Given the description of an element on the screen output the (x, y) to click on. 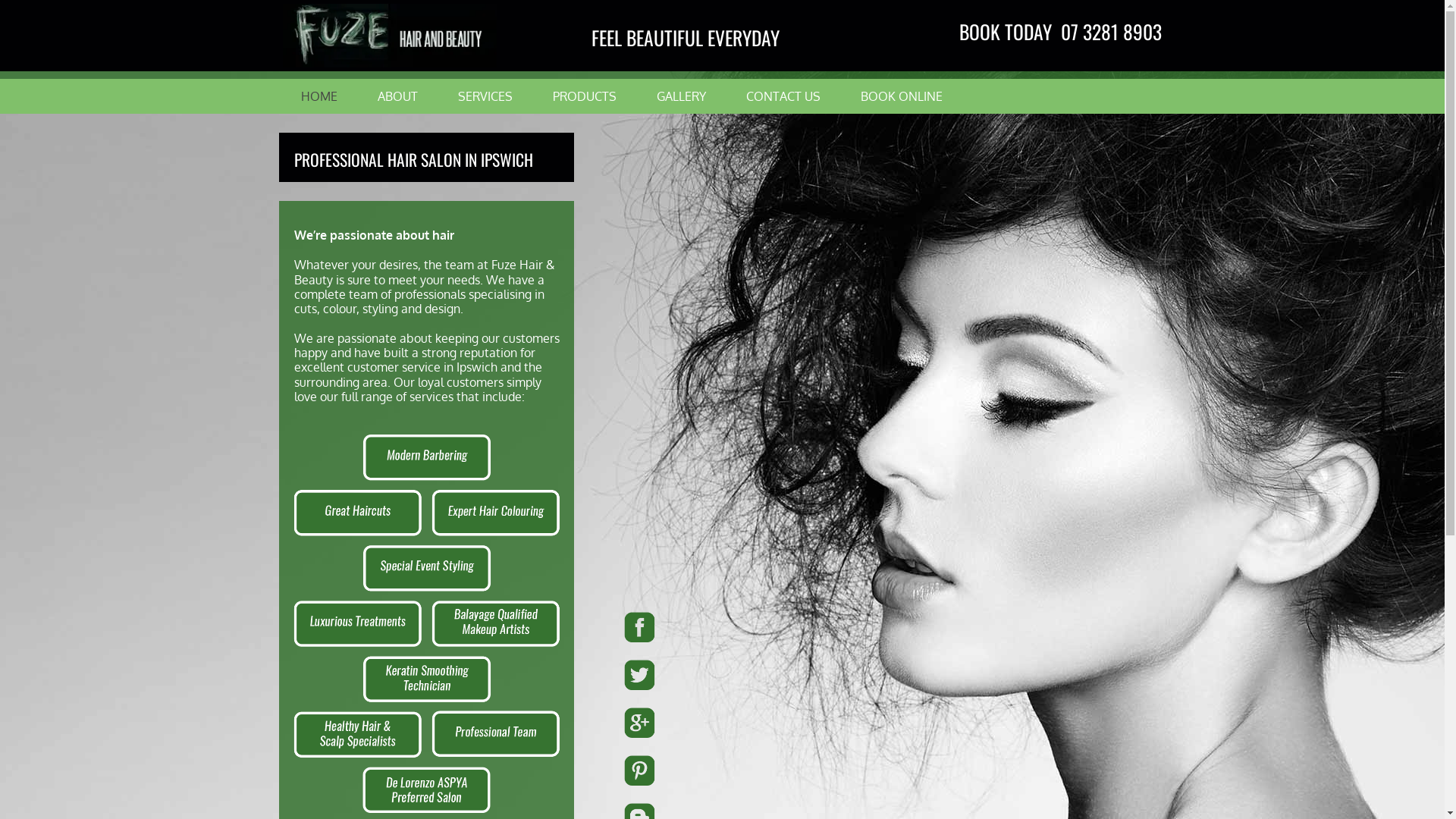
ABOUT Element type: text (397, 96)
HOME Element type: text (318, 96)
07 3281 8903 Element type: text (1110, 30)
Fuze Hair and Beauty Google Plus Link Element type: hover (721, 722)
fuze hair and body - ipswich Element type: hover (426, 623)
Fuze Hair and Beauty Twitter Link Element type: hover (721, 674)
Fuze Hair and Beauty Pinterest Link Element type: hover (721, 770)
Fuze Hair and Beauty Facebook Link Element type: hover (721, 627)
CONTACT US Element type: text (783, 96)
BOOK ONLINE Element type: text (900, 96)
SERVICES Element type: text (485, 96)
GALLERY Element type: text (681, 96)
PRODUCTS Element type: text (583, 96)
fuze hair and beauty Element type: hover (389, 35)
